Given the description of an element on the screen output the (x, y) to click on. 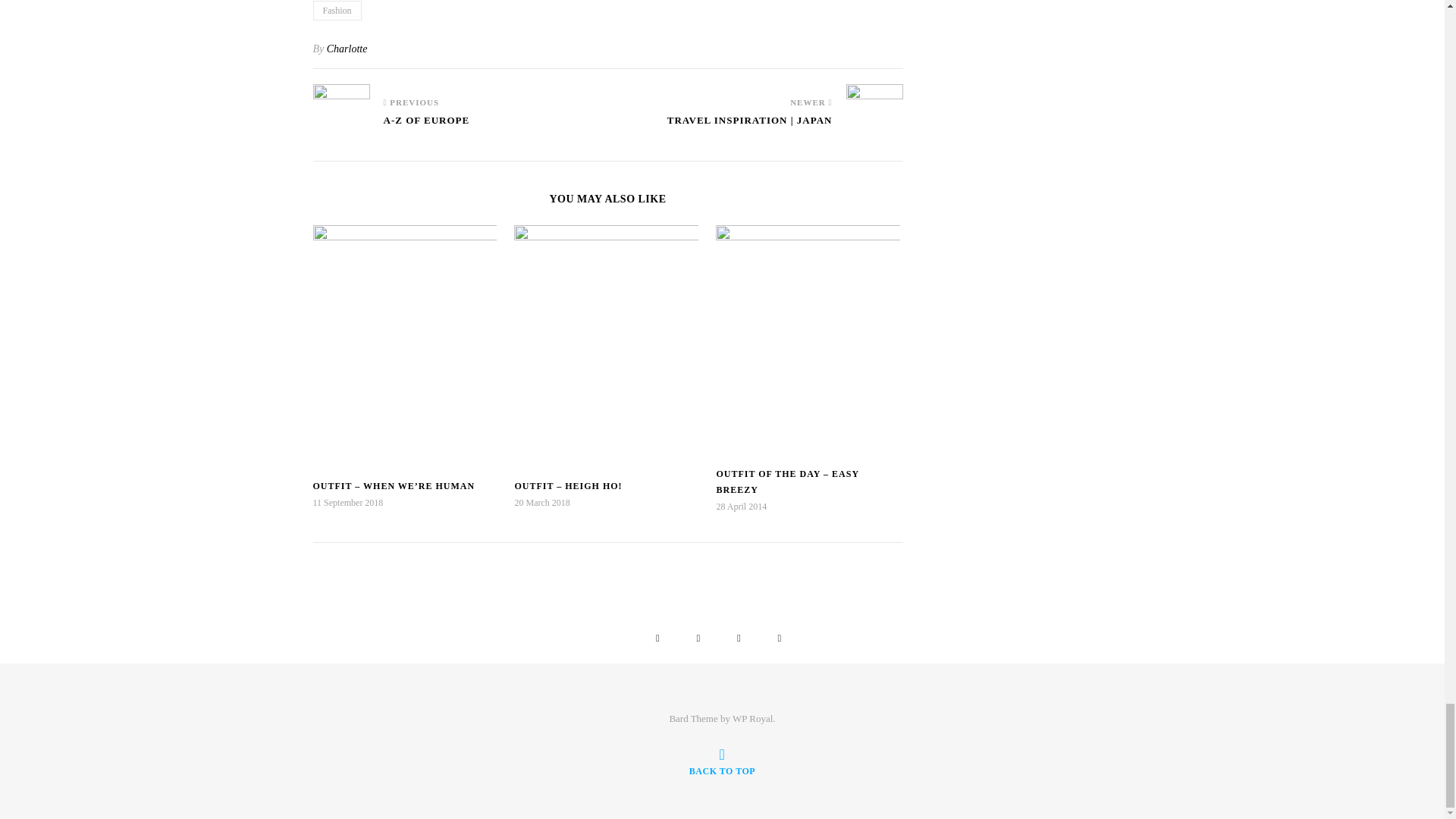
A-Z of Europe (427, 127)
A-Z of Europe (341, 105)
BACK TO TOP (722, 761)
Posts by Charlotte (347, 48)
